Given the description of an element on the screen output the (x, y) to click on. 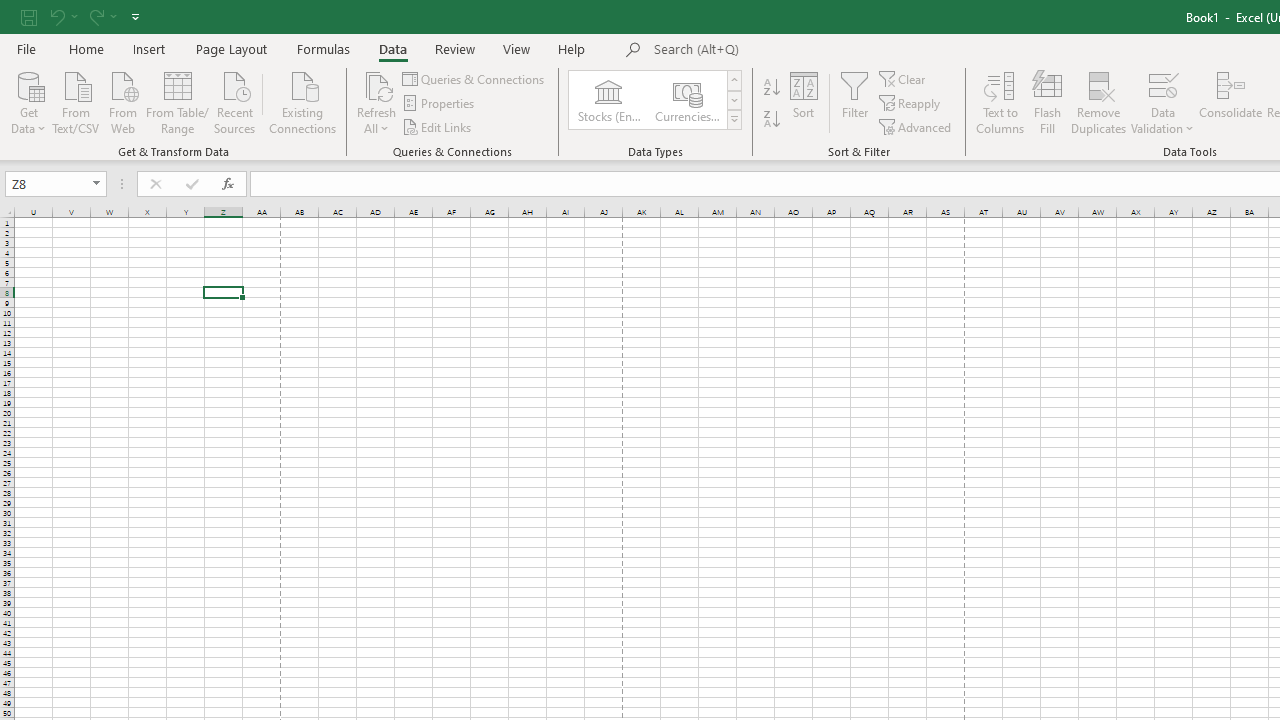
Currencies (English) (686, 100)
Sort... (804, 102)
Data Types (734, 120)
Sort Z to A (772, 119)
From Table/Range (177, 101)
Existing Connections (303, 101)
Consolidate... (1230, 102)
